Given the description of an element on the screen output the (x, y) to click on. 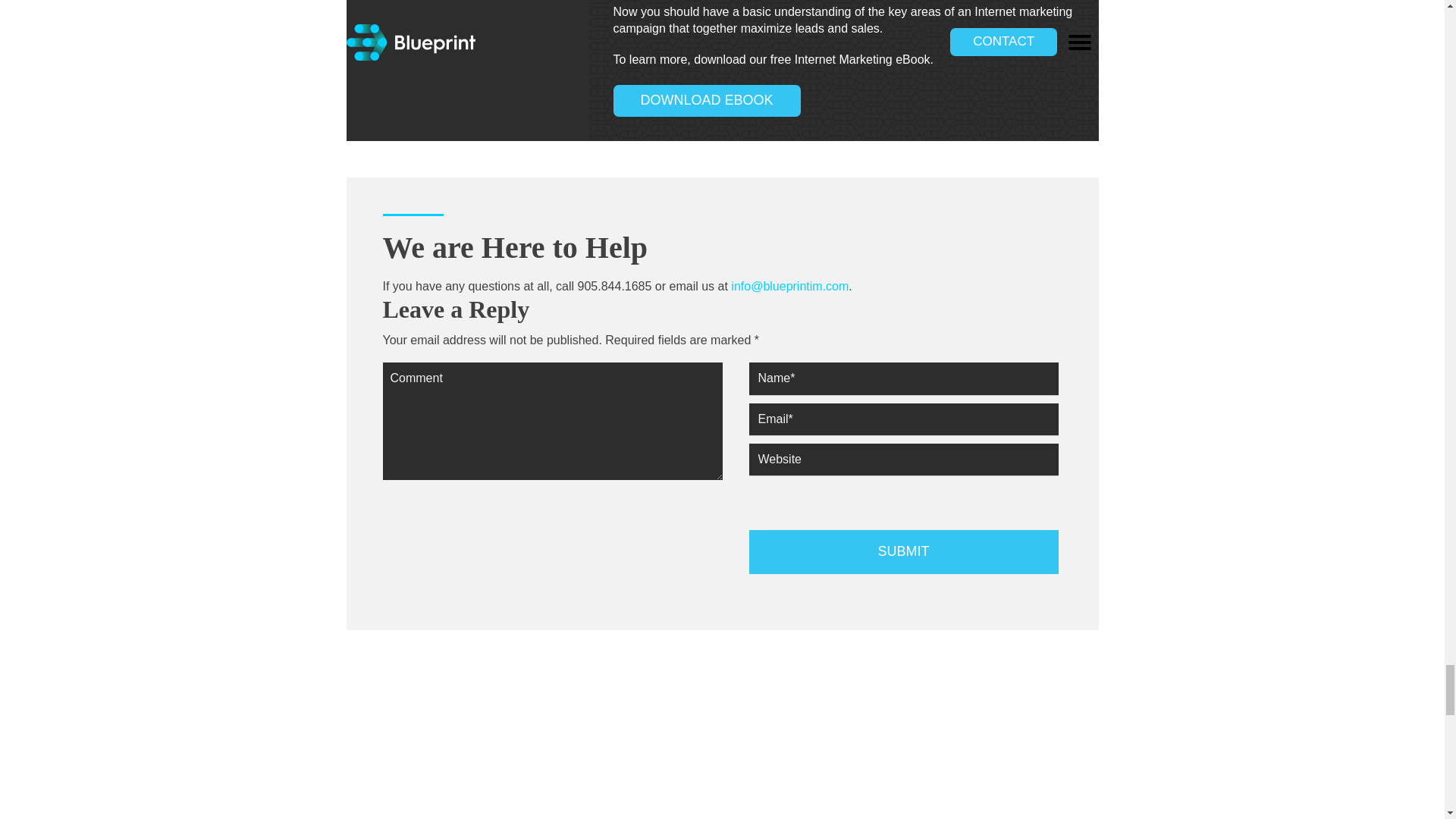
Download now (760, 219)
DOWNLOAD EBOOK (706, 101)
Submit (903, 551)
Submit (903, 551)
